Given the description of an element on the screen output the (x, y) to click on. 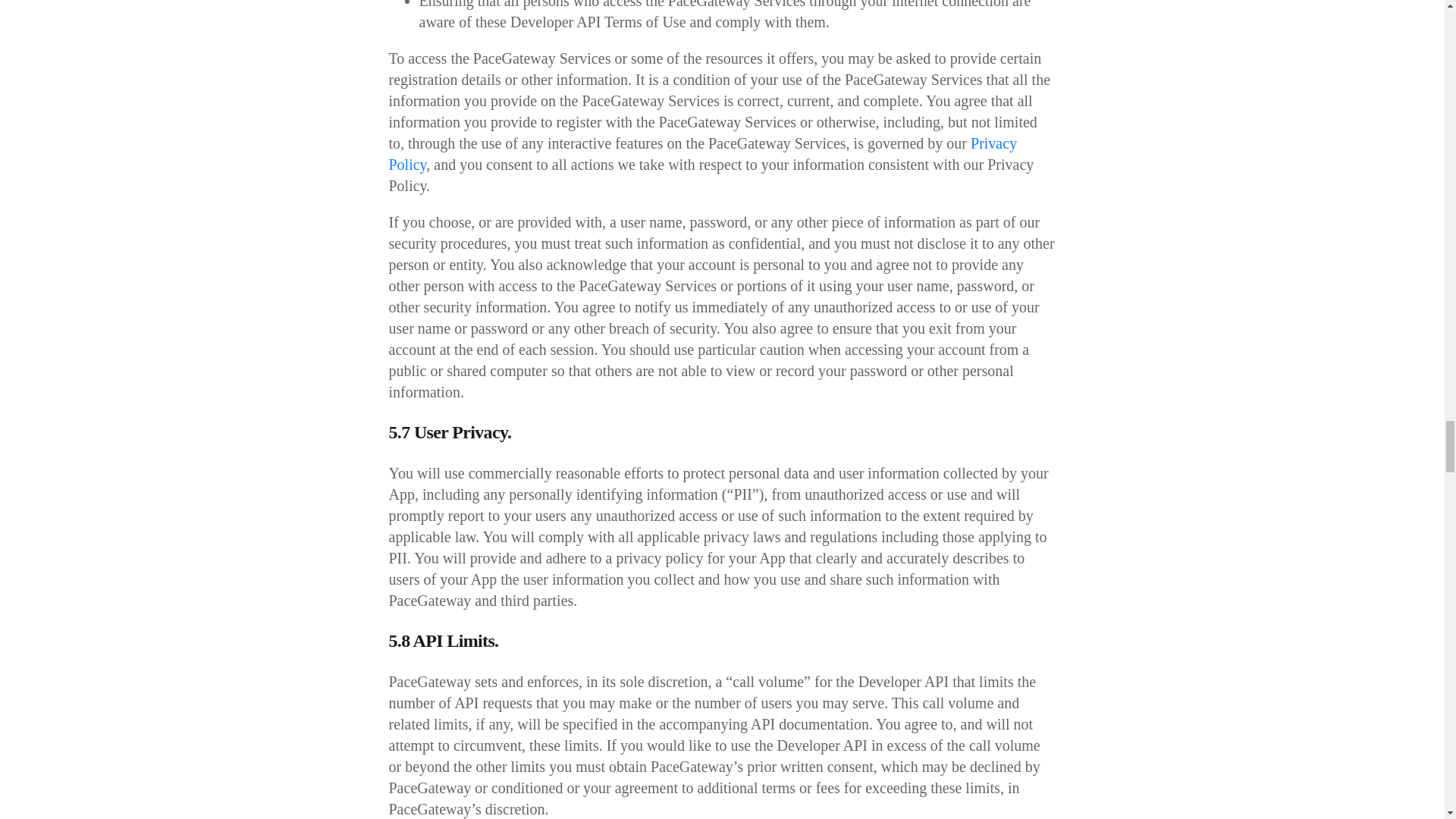
Privacy Policy (702, 153)
